Given the description of an element on the screen output the (x, y) to click on. 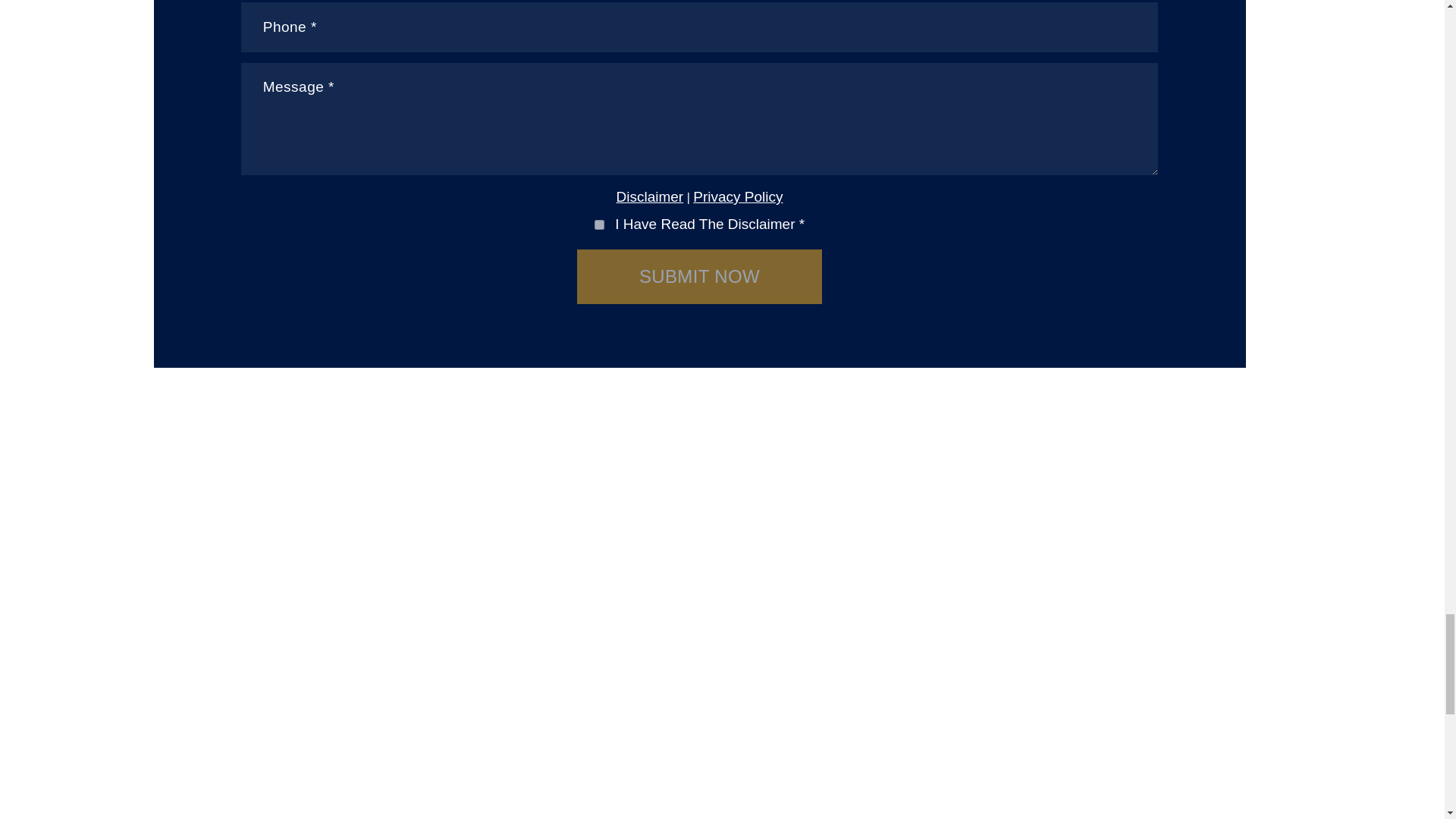
Submit Now (699, 276)
